Given the description of an element on the screen output the (x, y) to click on. 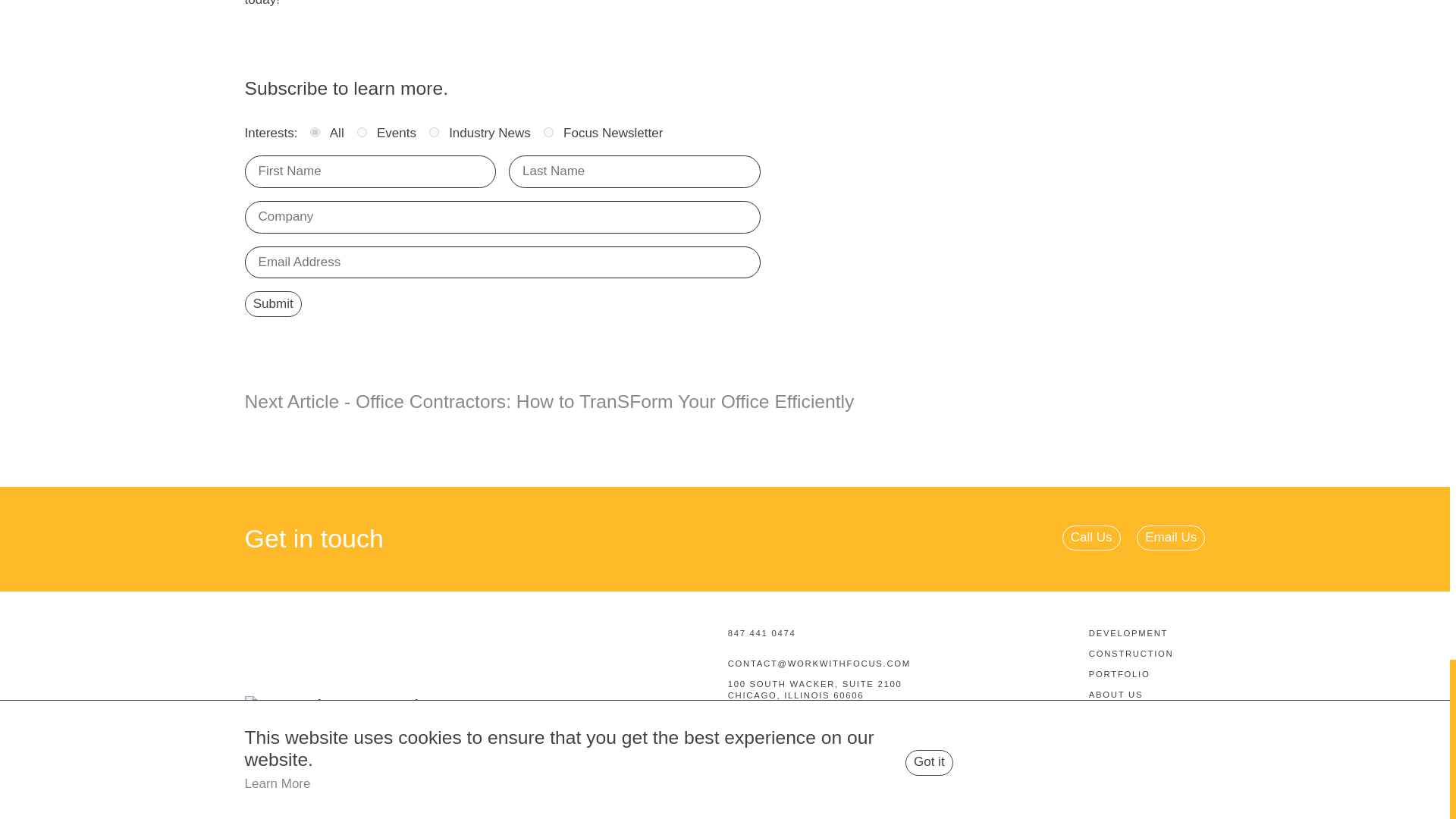
847 441 0474 (908, 633)
Email Us (1171, 537)
All (315, 132)
Call Us (1091, 537)
Focus Newsletter (548, 132)
Events (361, 132)
Submit (272, 303)
Industry News (434, 132)
